Given the description of an element on the screen output the (x, y) to click on. 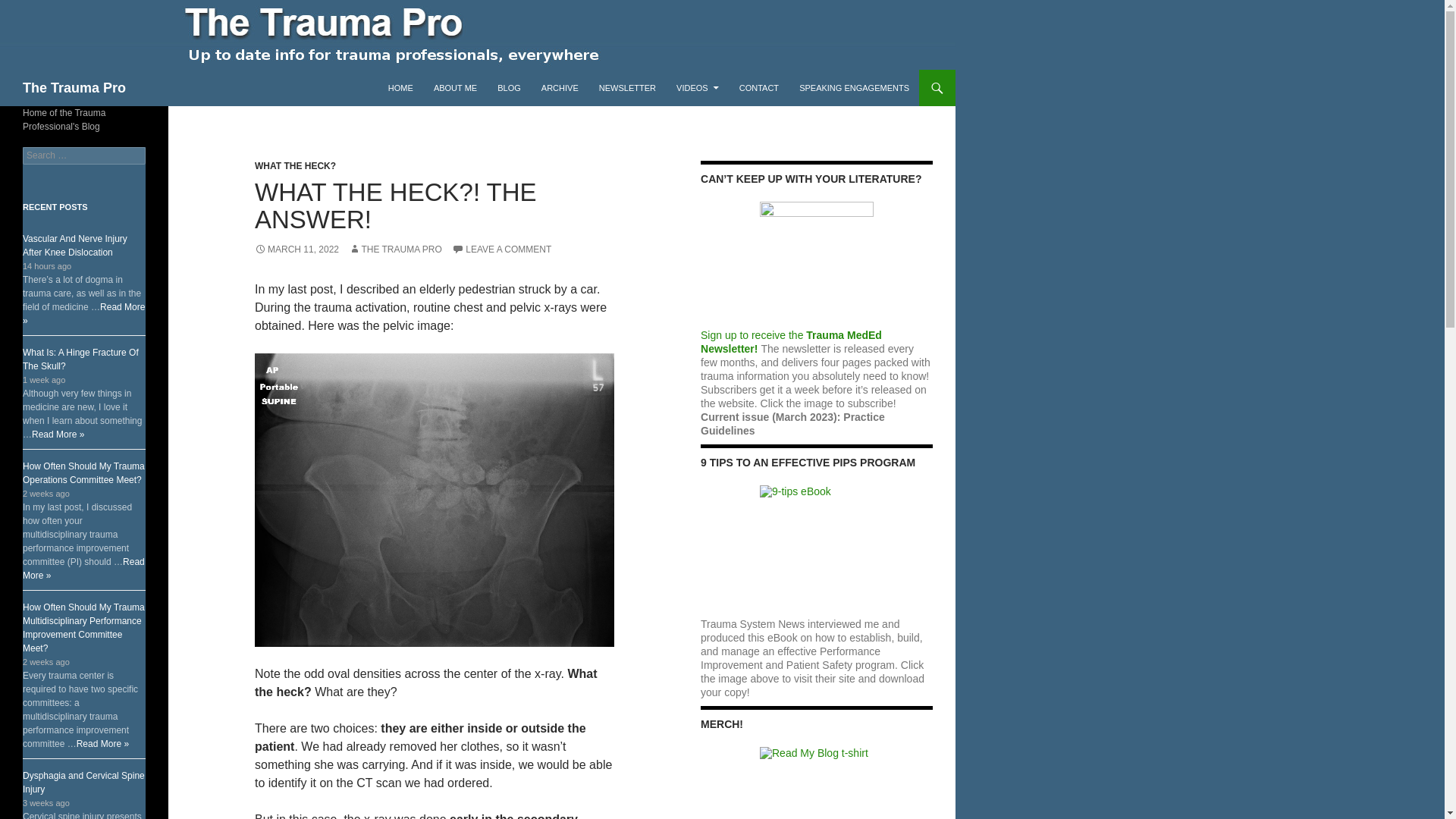
ARCHIVE (560, 87)
Search (30, 8)
How Often Should My Trauma Operations Committee Meet? (83, 473)
Dysphagia and Cervical Spine Injury (83, 782)
What Is: A Hinge Fracture Of The Skull? (80, 359)
HOME (400, 87)
NEWSLETTER (627, 87)
Vascular And Nerve Injury After Knee Dislocation (75, 245)
LEAVE A COMMENT (501, 249)
CONTACT (758, 87)
BLOG (508, 87)
THE TRAUMA PRO (395, 249)
MARCH 11, 2022 (296, 249)
